Given the description of an element on the screen output the (x, y) to click on. 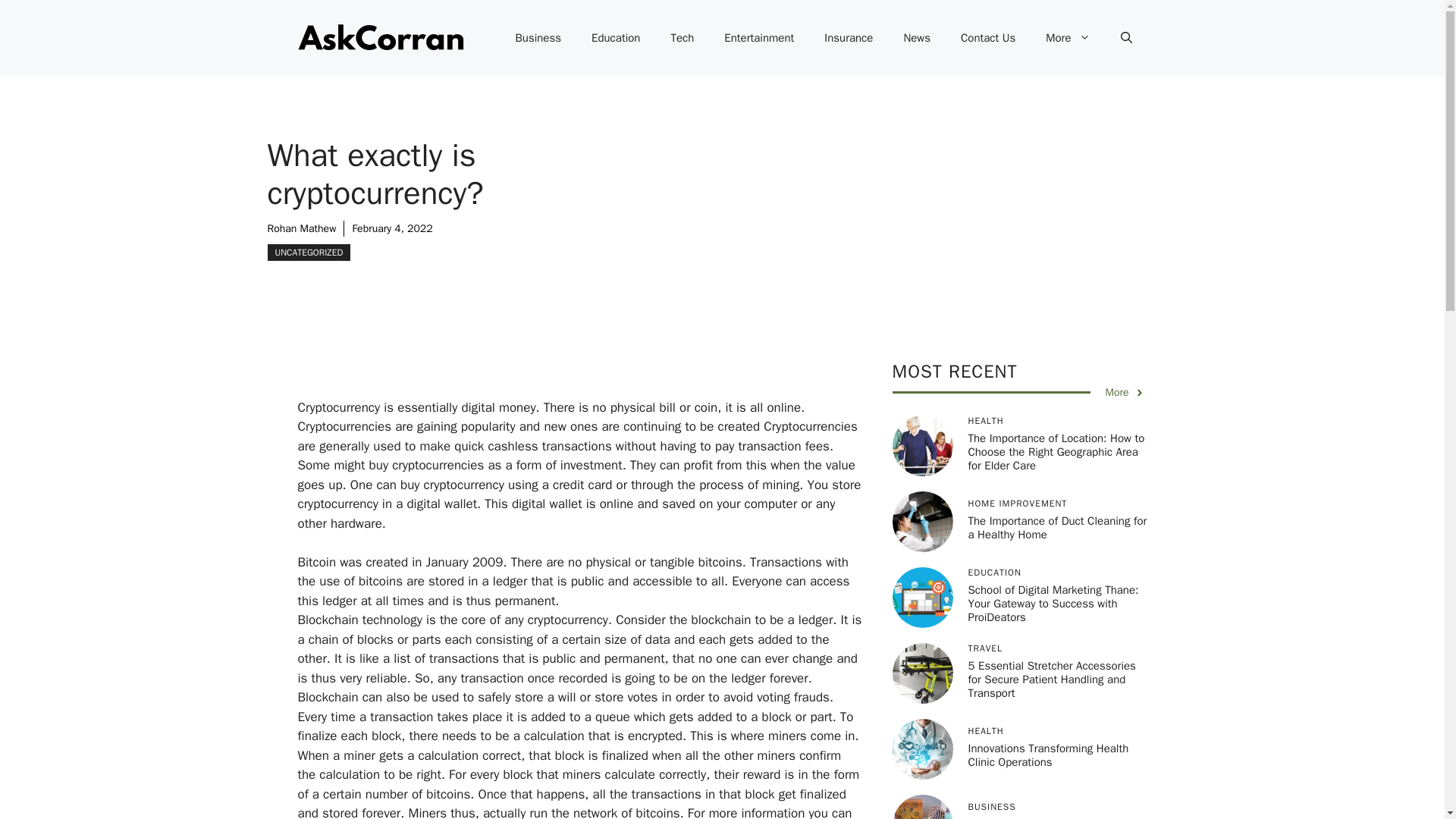
The Importance of Duct Cleaning for a Healthy Home (1057, 527)
Innovations Transforming Health Clinic Operations (1048, 755)
Education (615, 37)
Insurance (848, 37)
More (1124, 392)
Business (538, 37)
UNCATEGORIZED (308, 252)
News (916, 37)
